Given the description of an element on the screen output the (x, y) to click on. 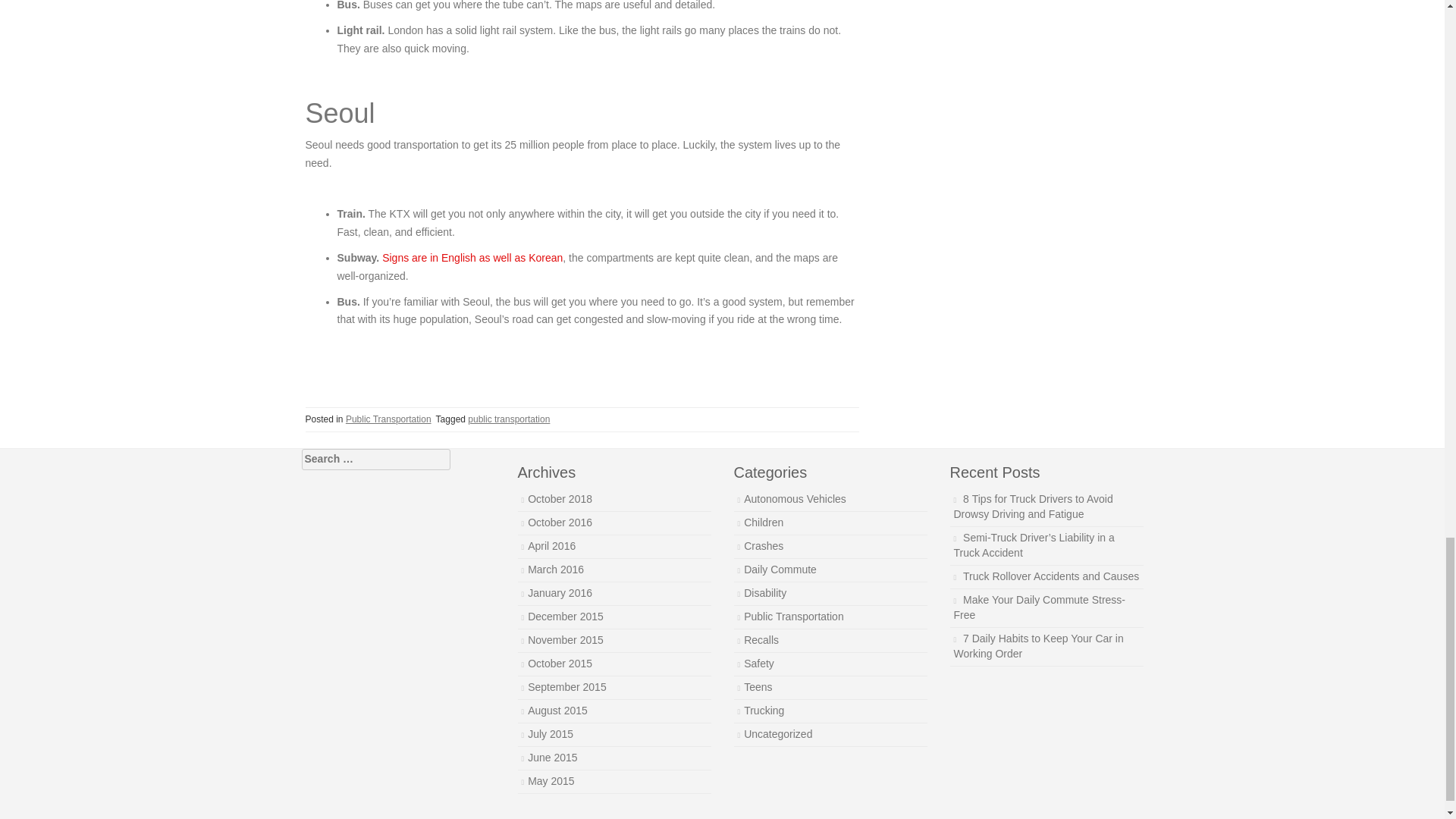
Signs are in English as well as Korean (471, 257)
public transportation (508, 419)
Safety (759, 663)
September 2015 (567, 686)
August 2015 (557, 710)
Public Transportation (388, 419)
May 2015 (550, 780)
January 2016 (559, 592)
Autonomous Vehicles (794, 499)
October 2015 (559, 663)
November 2015 (565, 639)
Crashes (763, 545)
Public Transportation (794, 616)
Children (763, 522)
July 2015 (550, 734)
